Given the description of an element on the screen output the (x, y) to click on. 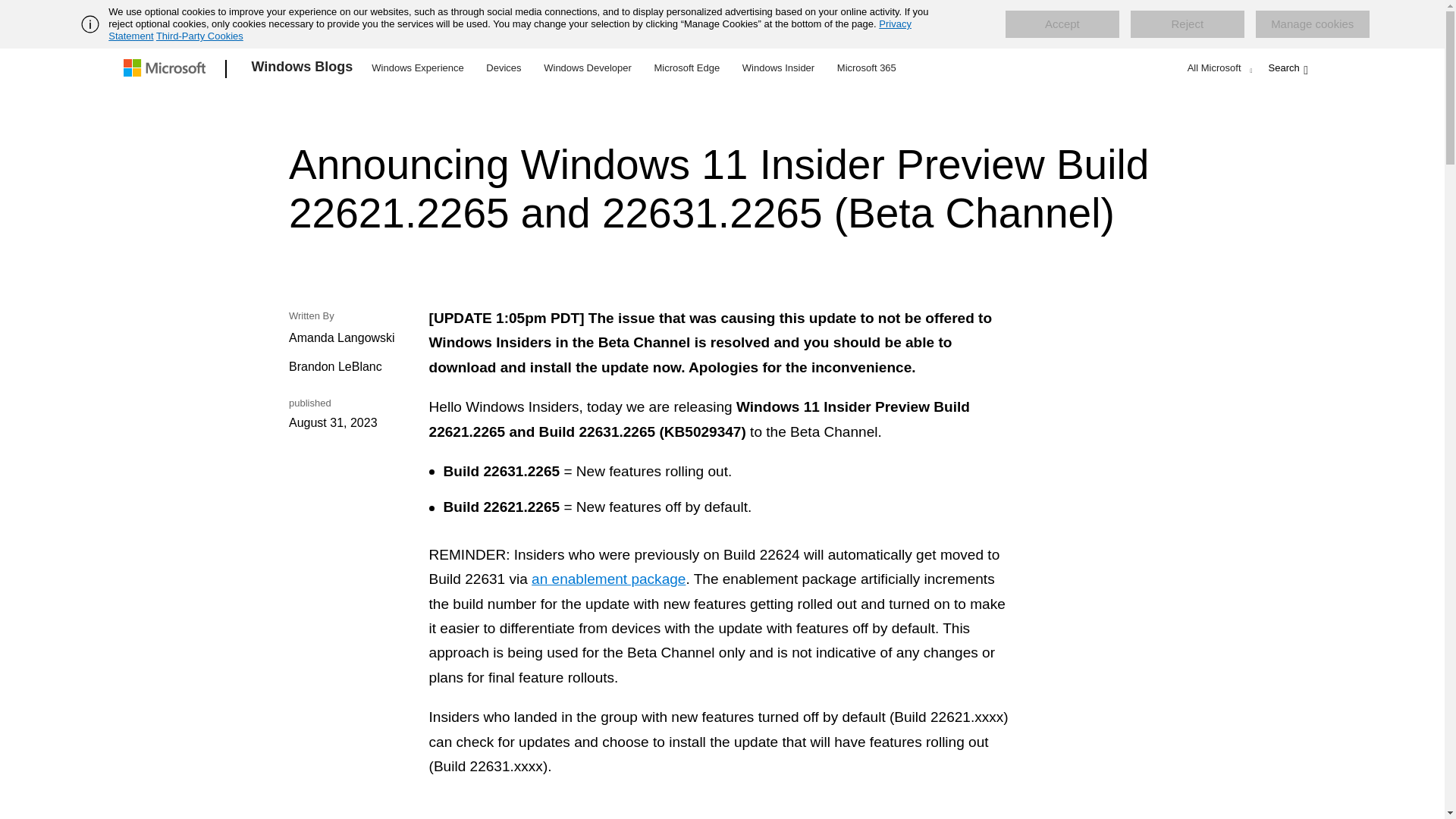
Manage cookies (1312, 23)
Privacy Statement (509, 29)
Microsoft Edge (686, 67)
Windows Blogs (302, 69)
Reject (1187, 23)
Microsoft 365 (865, 67)
Windows Developer (588, 67)
Windows Experience (417, 67)
Third-Party Cookies (199, 35)
Windows Insider (778, 67)
Devices (503, 67)
Accept (1062, 23)
Microsoft (167, 69)
All Microsoft (1217, 67)
